Given the description of an element on the screen output the (x, y) to click on. 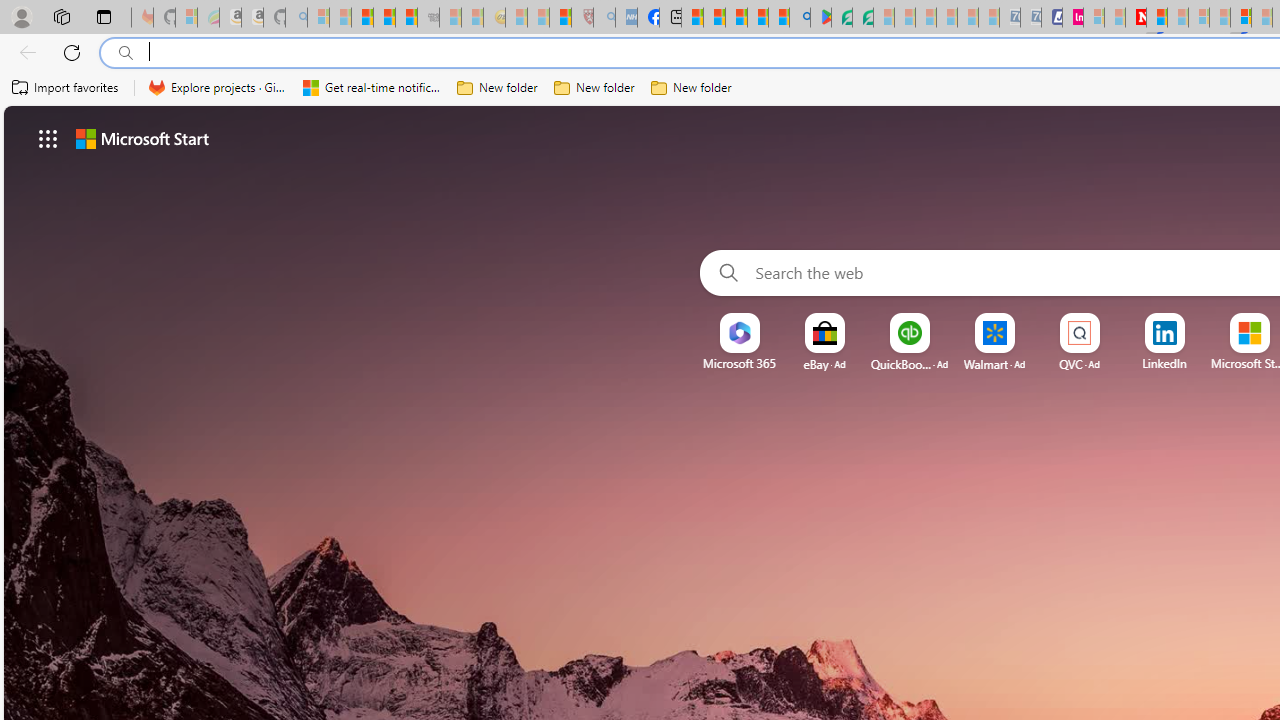
App launcher (47, 138)
Import favorites (65, 88)
Jobs - lastminute.com Investor Portal (1072, 17)
Search icon (125, 53)
